Given the description of an element on the screen output the (x, y) to click on. 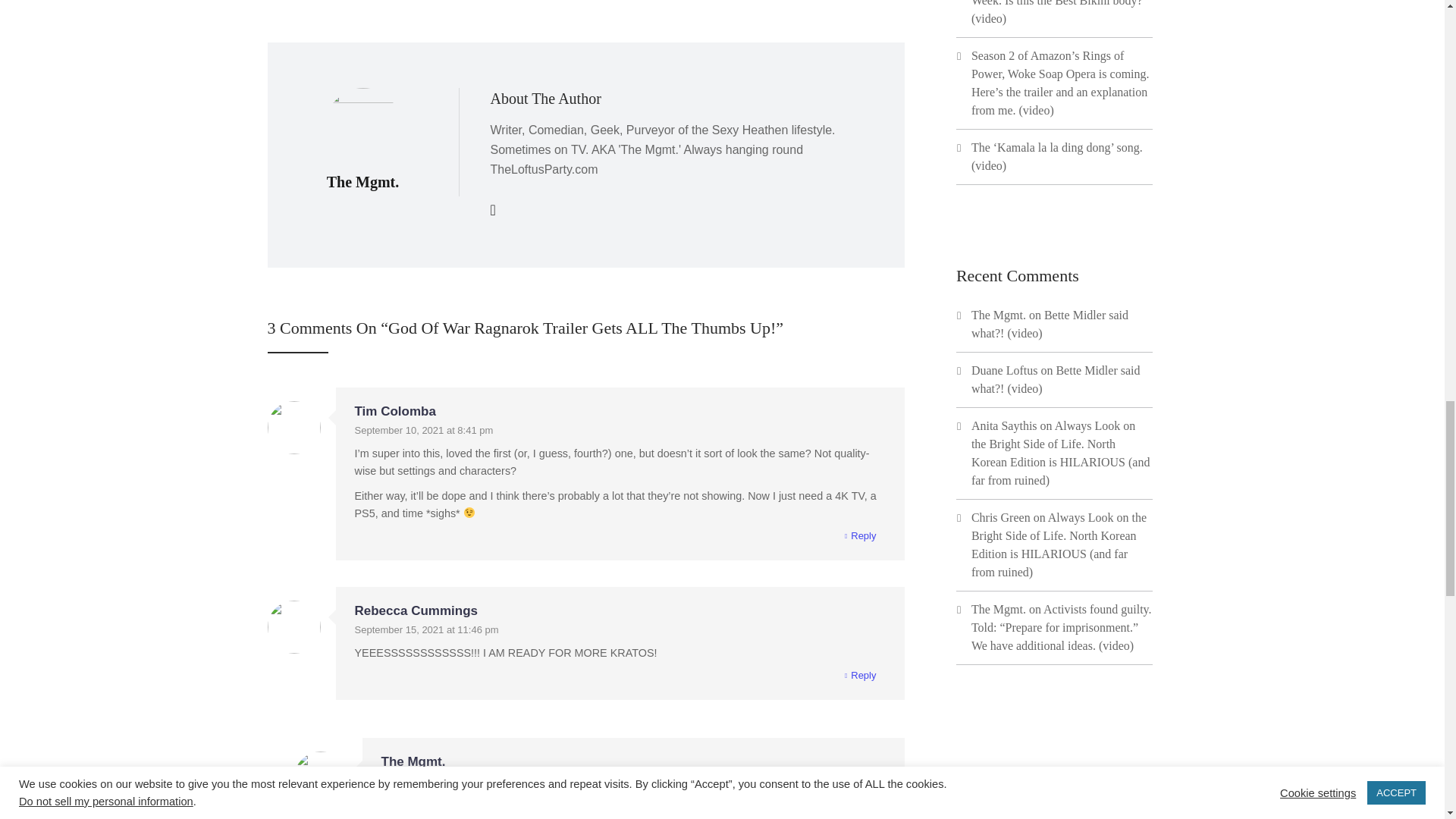
Posts by The Mgmt. (362, 181)
The Mgmt. (362, 181)
